Given the description of an element on the screen output the (x, y) to click on. 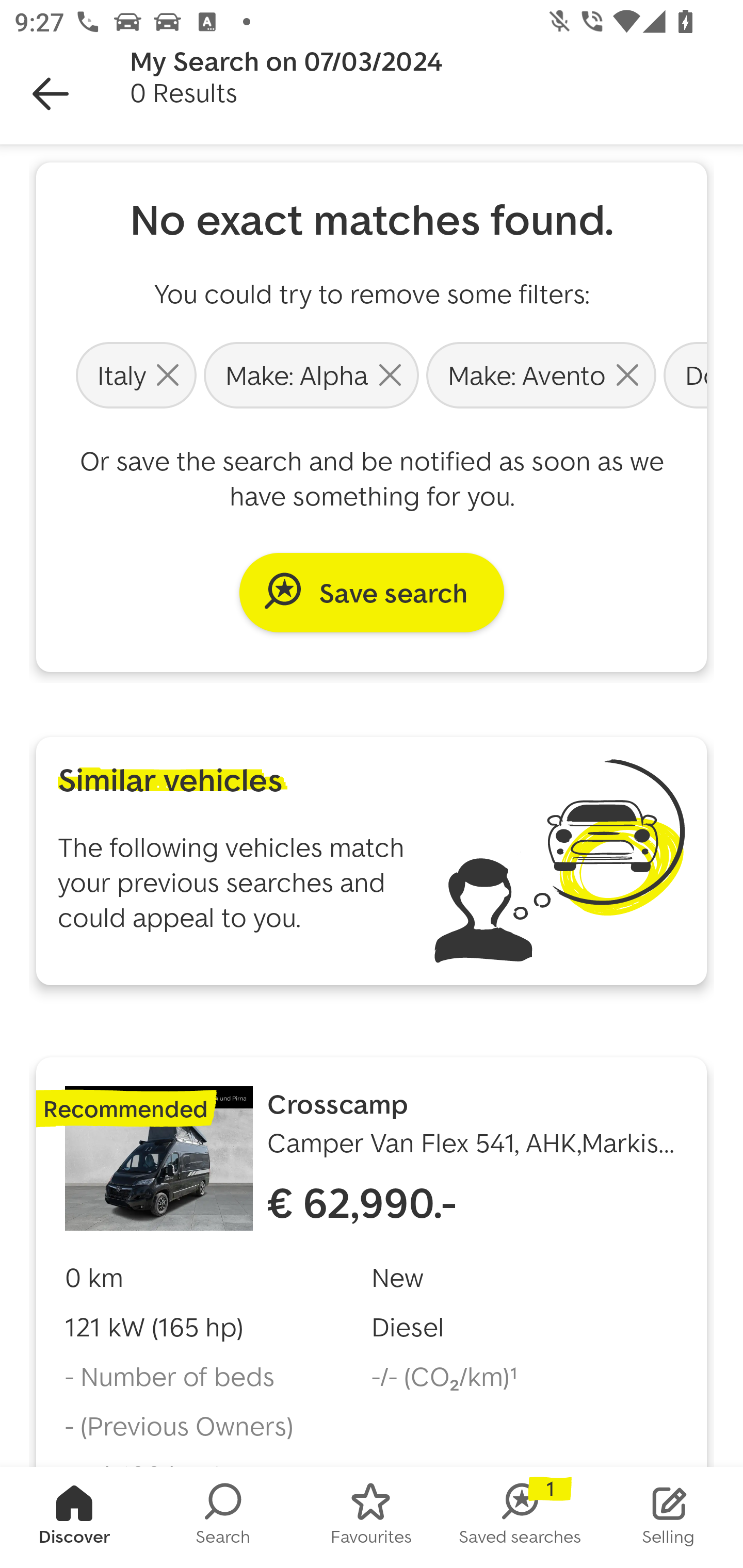
Navigate up (50, 93)
Italy (135, 374)
Make: Alpha (310, 374)
Make: Avento (540, 374)
Save search (371, 592)
HOMESCREEN Discover (74, 1517)
SEARCH Search (222, 1517)
FAVORITES Favourites (371, 1517)
SAVED_SEARCHES Saved searches 1 (519, 1517)
STOCK_LIST Selling (668, 1517)
